Given the description of an element on the screen output the (x, y) to click on. 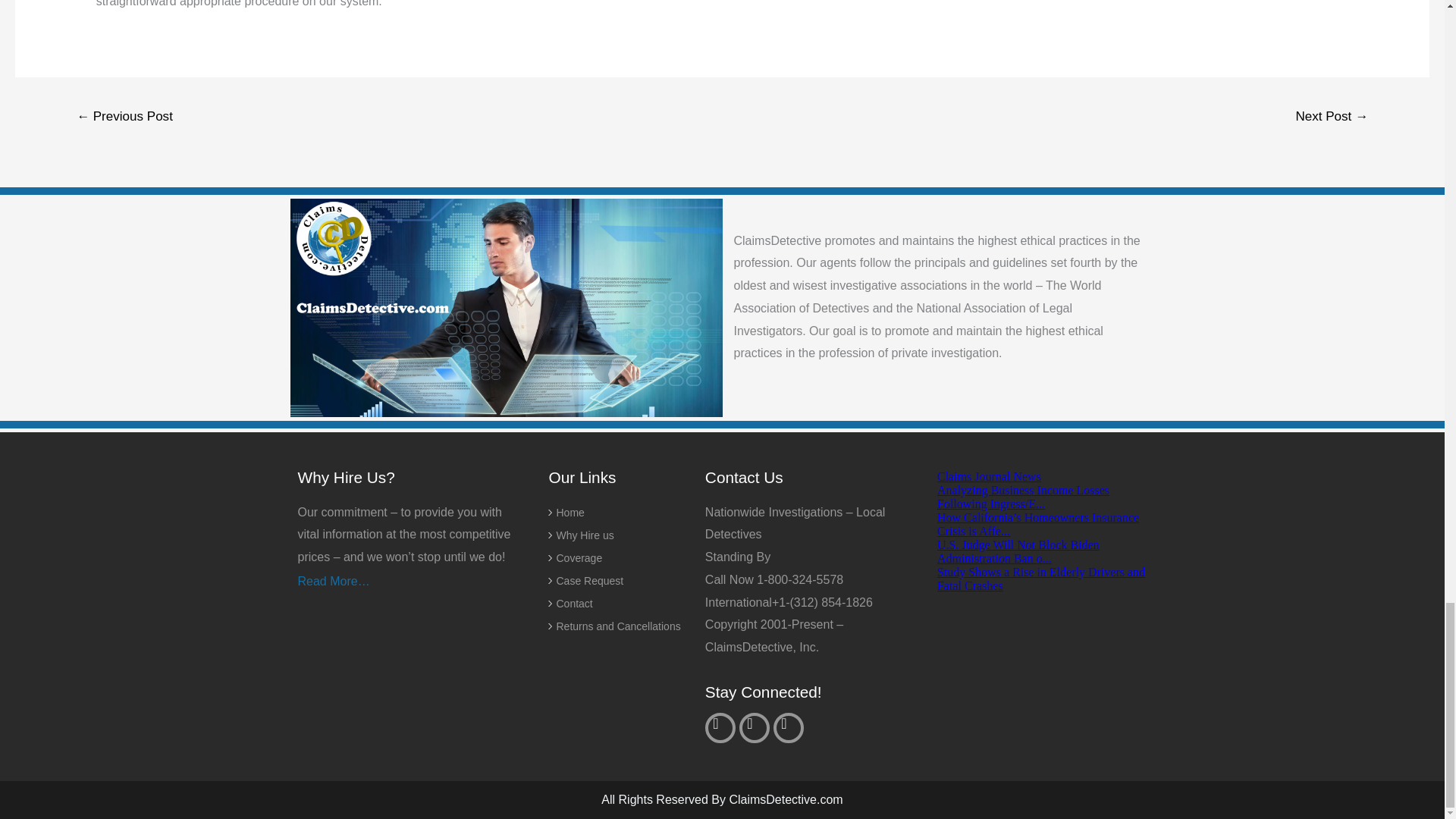
Contact (622, 603)
Coverage (622, 558)
Home (622, 512)
Why Hire us (622, 535)
Returns and Cancellations (622, 626)
Case Request (622, 580)
